Given the description of an element on the screen output the (x, y) to click on. 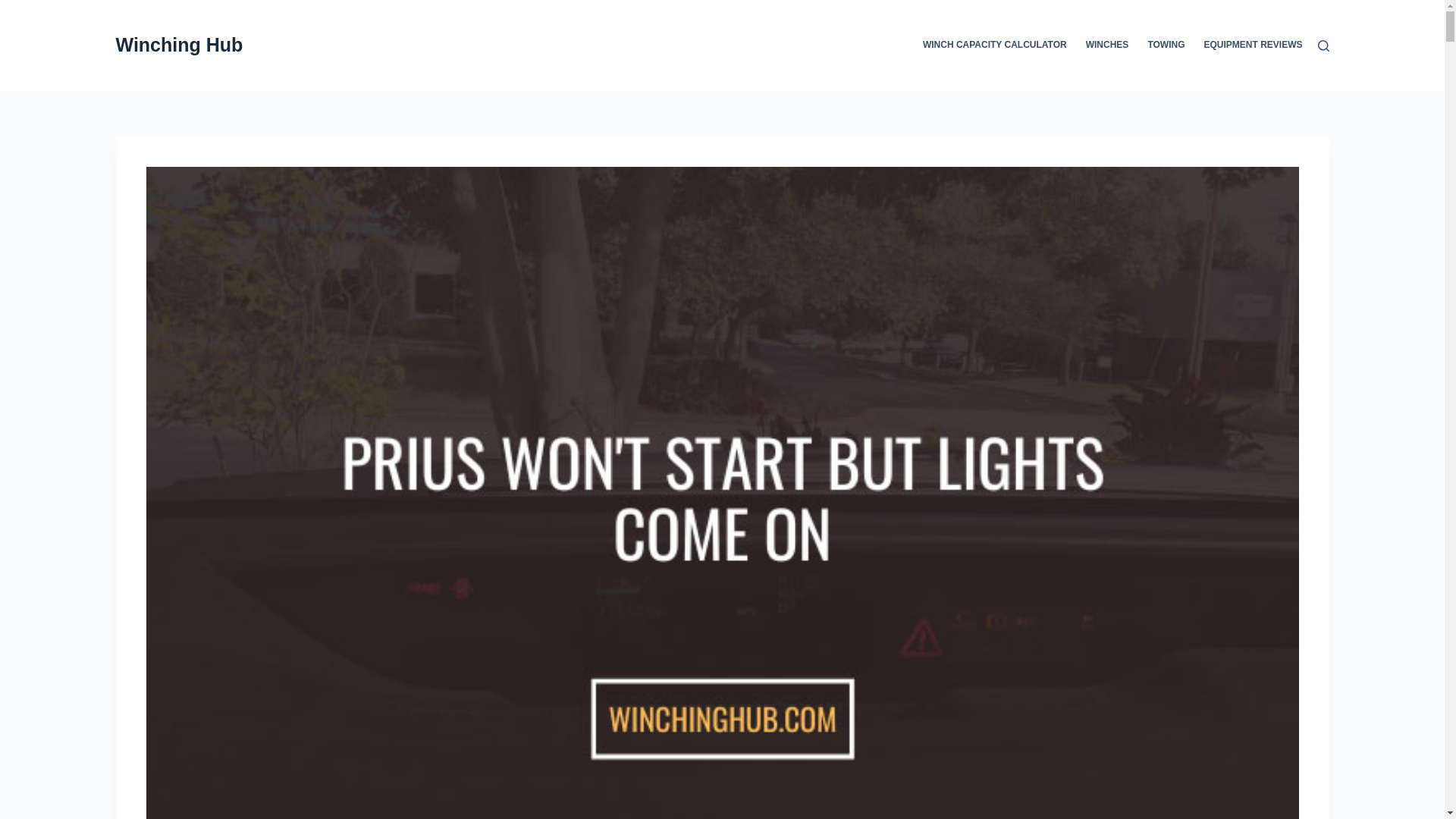
WINCH CAPACITY CALCULATOR (999, 45)
Skip to content (15, 7)
EQUIPMENT REVIEWS (1248, 45)
TOWING (1165, 45)
WINCHES (1106, 45)
Winching Hub (179, 44)
